Given the description of an element on the screen output the (x, y) to click on. 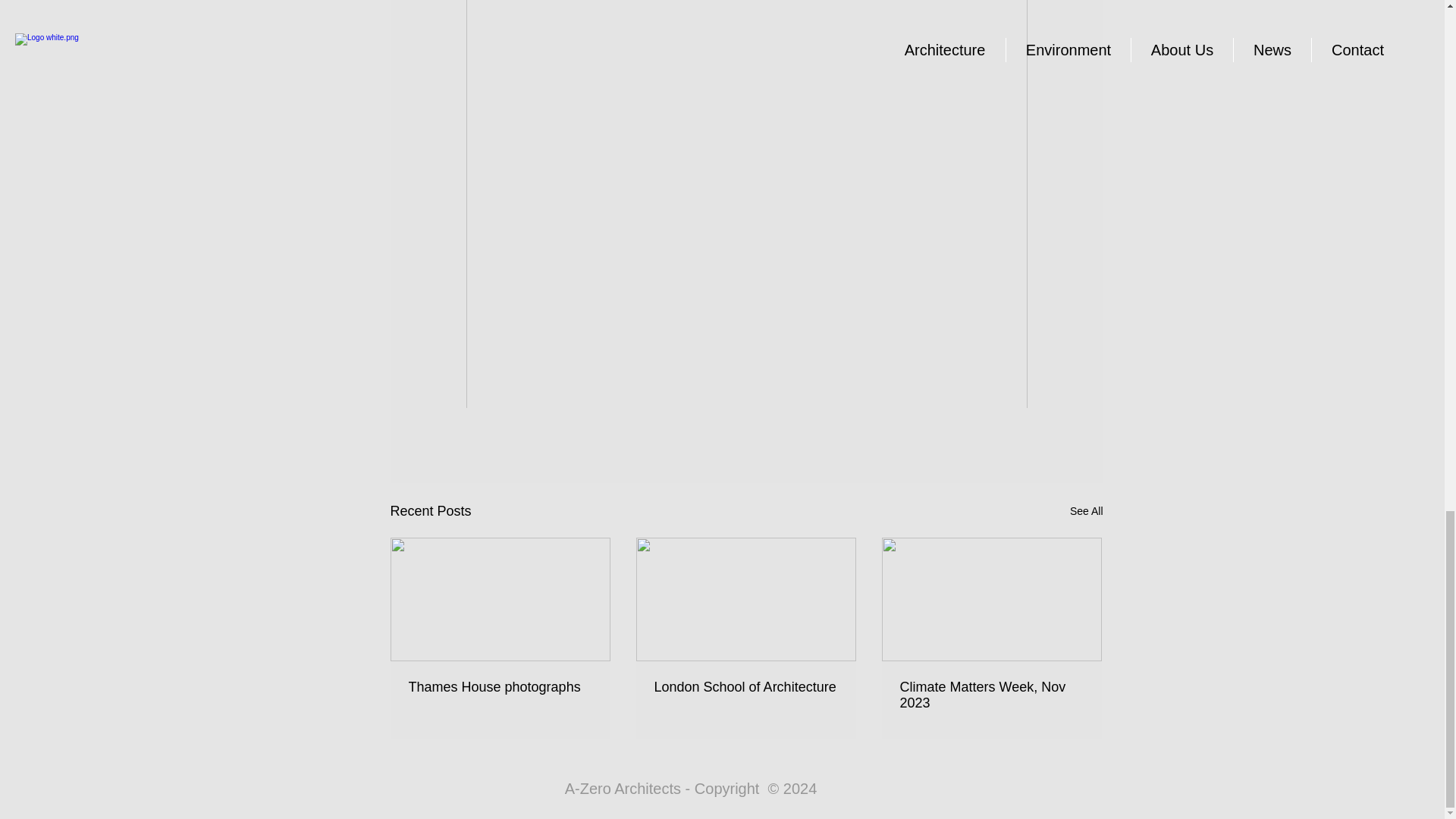
Climate Matters Week, Nov 2023 (991, 695)
London School of Architecture (745, 687)
Thames House photographs (499, 687)
See All (1086, 511)
